Given the description of an element on the screen output the (x, y) to click on. 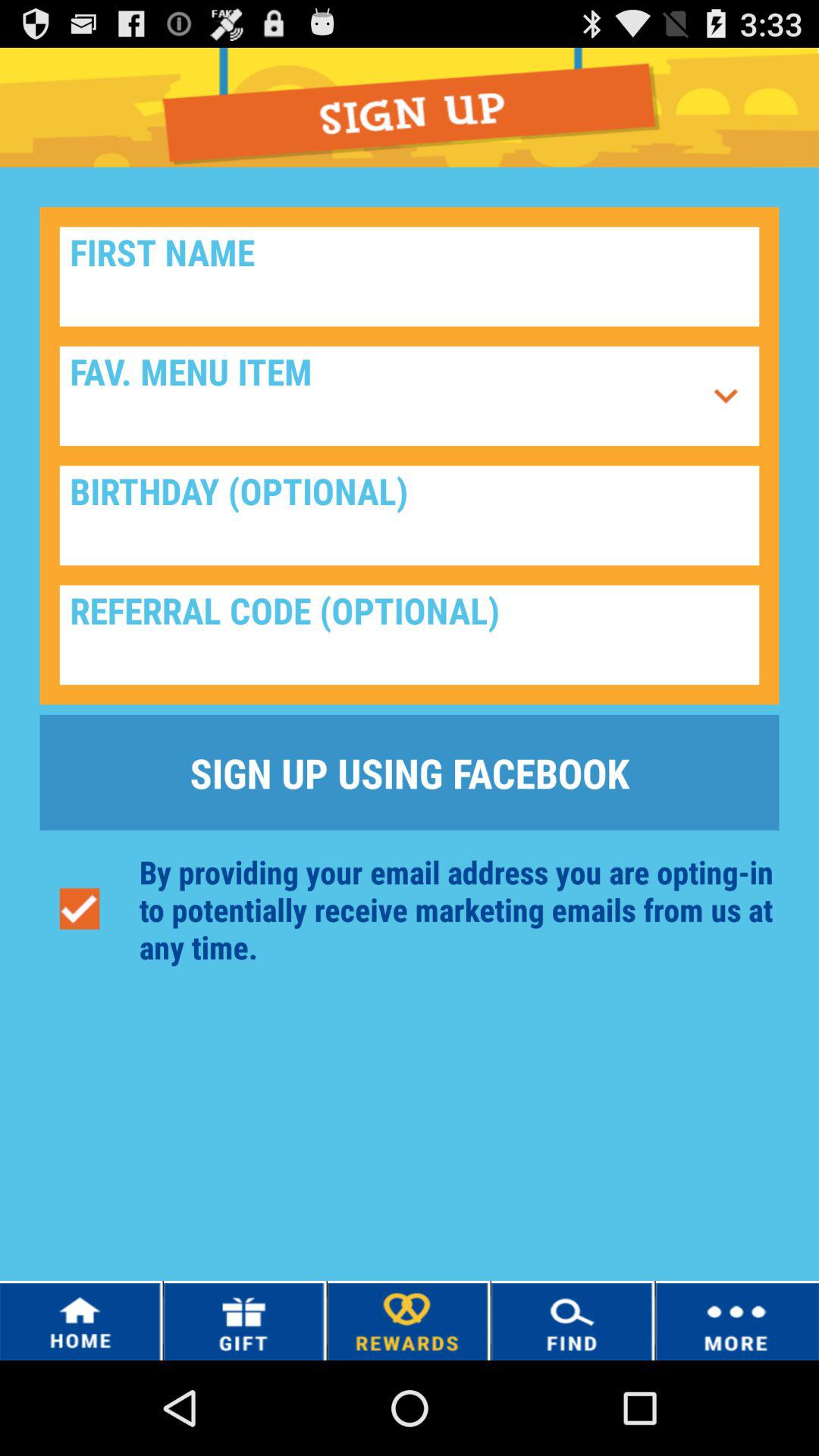
first name row (409, 276)
